Given the description of an element on the screen output the (x, y) to click on. 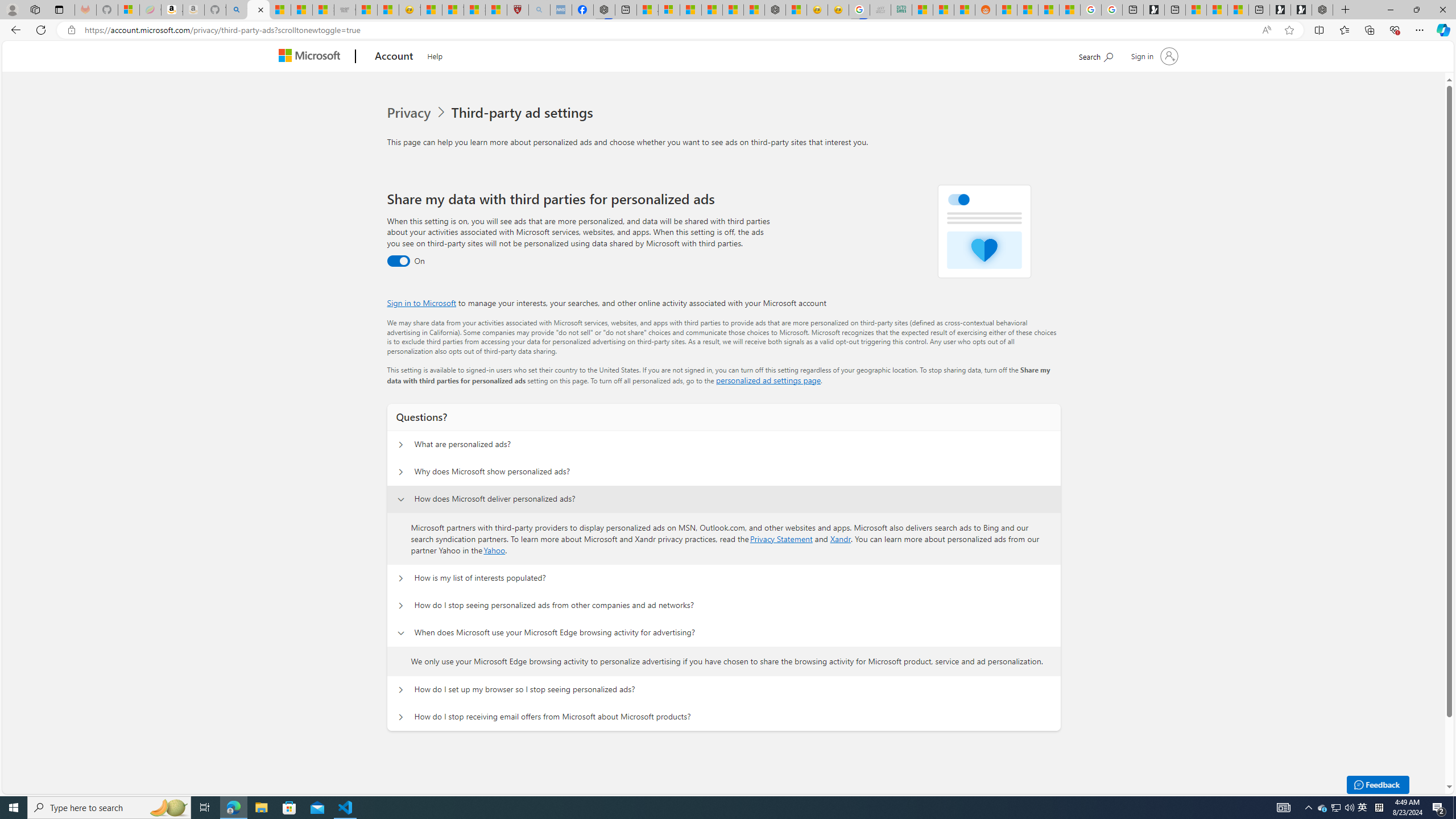
personalized ad settings page (767, 379)
Sign in to Microsoft (422, 302)
Third party data sharing toggle (398, 260)
Questions? Why does Microsoft show personalized ads? (401, 472)
Microsoft (311, 56)
